Given the description of an element on the screen output the (x, y) to click on. 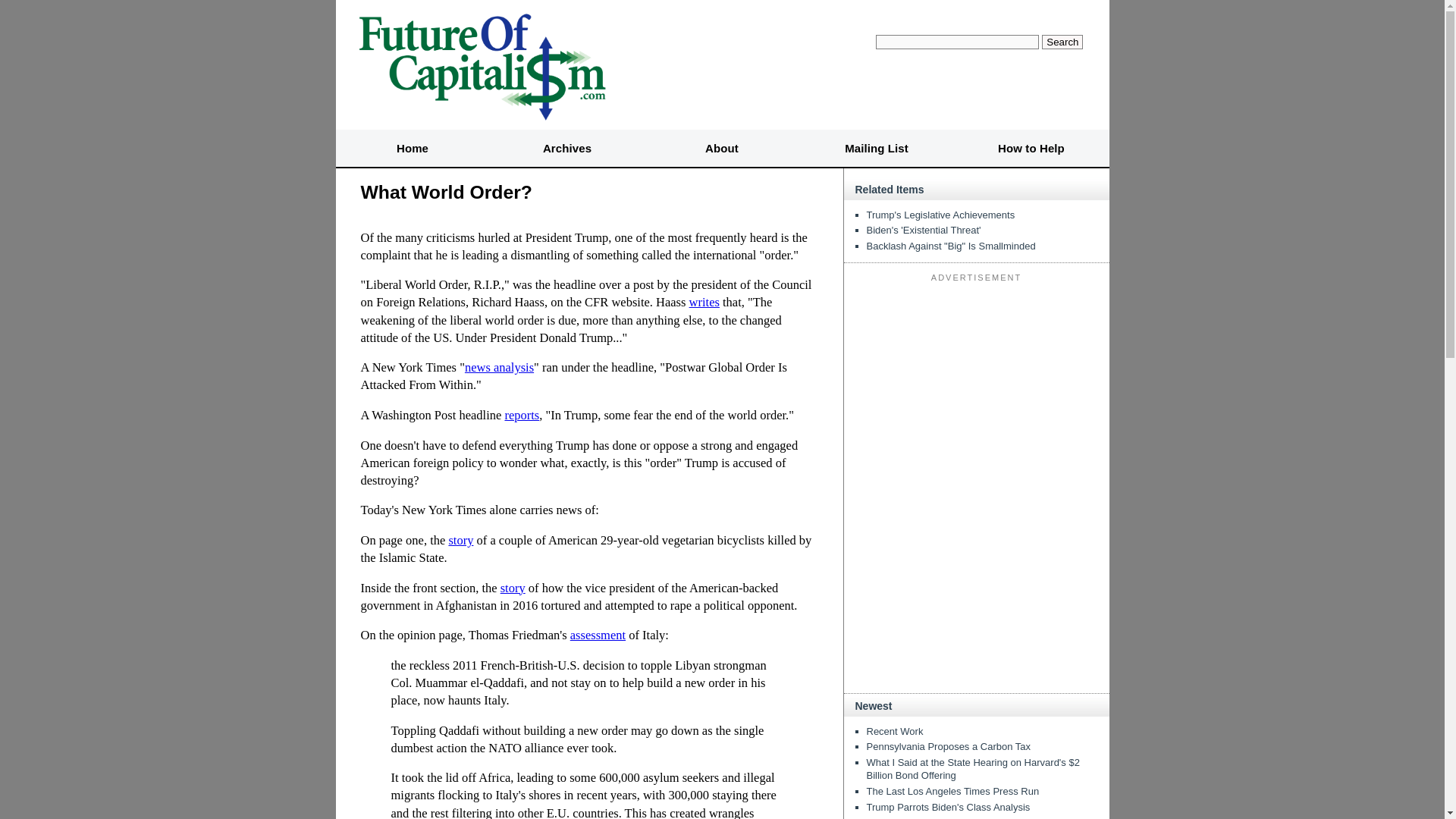
assessment (598, 635)
About (722, 148)
How to Help (1030, 148)
Biden's 'Existential Threat' (922, 229)
Search (1061, 42)
The Last Los Angeles Times Press Run (952, 790)
story (460, 540)
Recent Work (894, 731)
Backlash Against "Big" Is Smallminded (950, 245)
Trump's Legislative Achievements (940, 214)
